Given the description of an element on the screen output the (x, y) to click on. 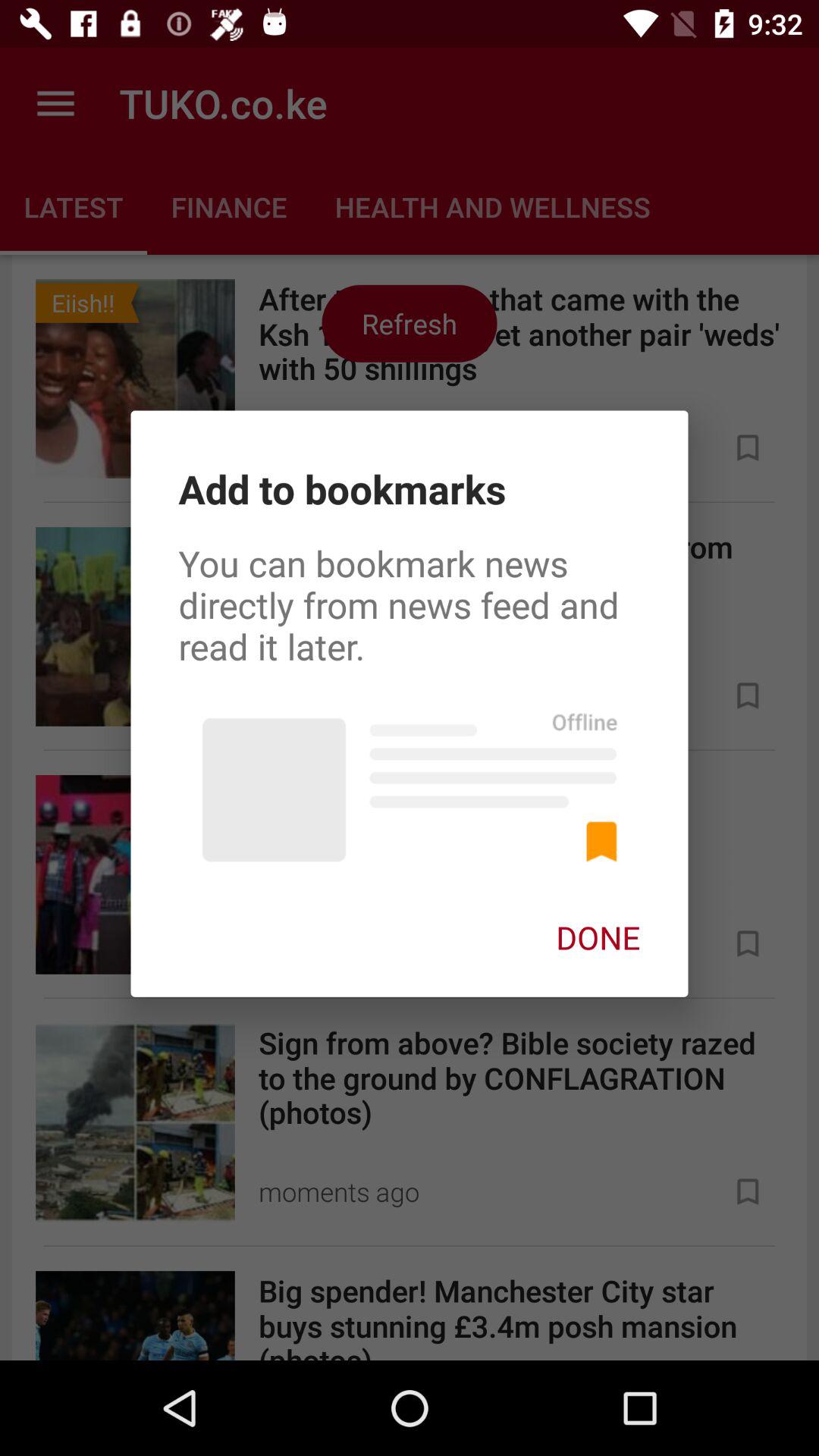
open the done on the right (598, 936)
